Given the description of an element on the screen output the (x, y) to click on. 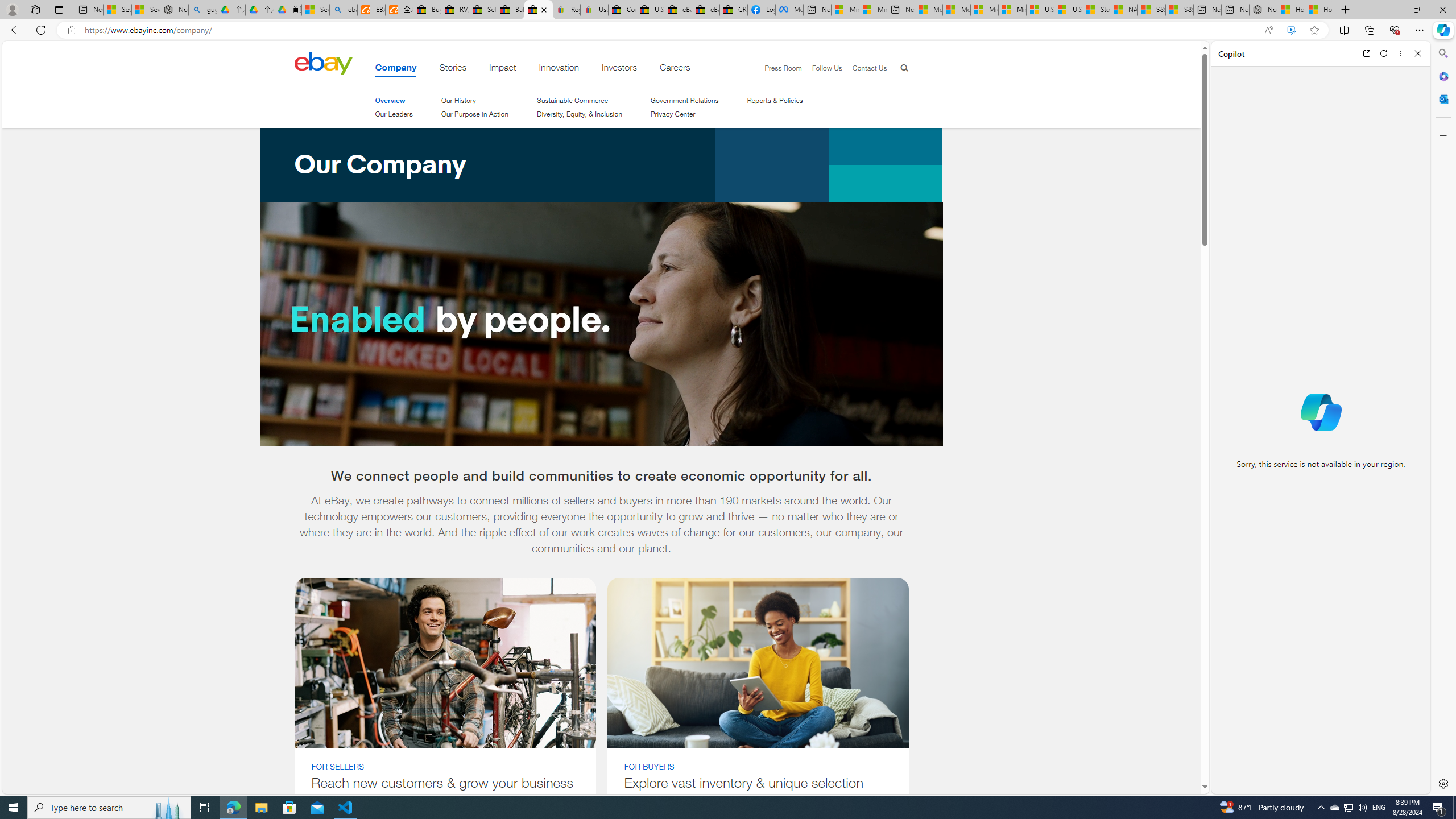
Stories (453, 69)
How to Use a Monitor With Your Closed Laptop (1319, 9)
Impact (502, 69)
More options (1401, 53)
Privacy Center (672, 113)
Contact Us (868, 67)
Our Purpose in Action (474, 113)
Log into Facebook (761, 9)
Diversity, Equity, & Inclusion (579, 113)
Press Room (778, 68)
guge yunpan - Search (202, 9)
